Given the description of an element on the screen output the (x, y) to click on. 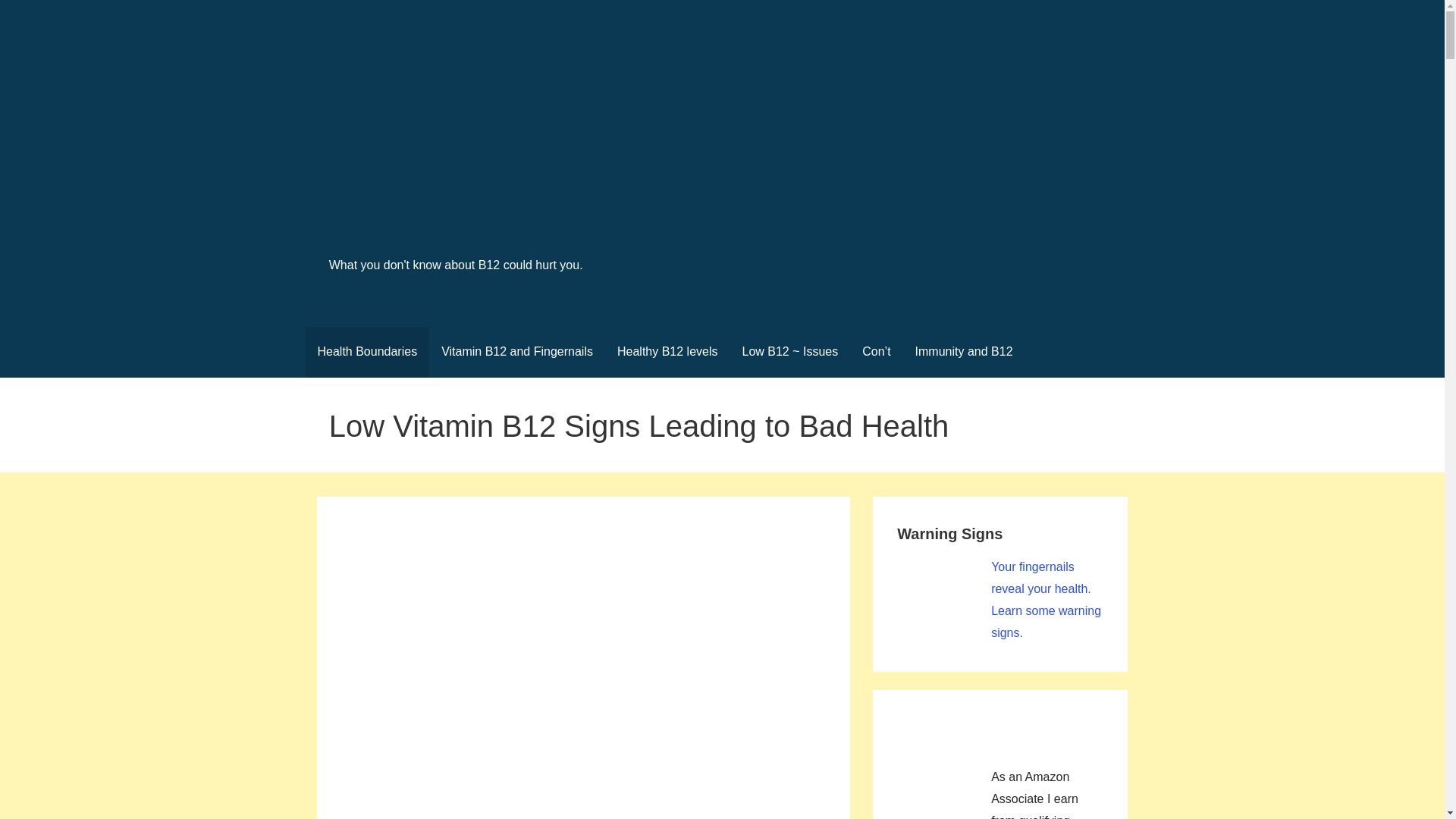
Health Boundaries (366, 351)
Healthy B12 levels (667, 351)
Vitamin B12 and Fingernails (517, 351)
